Given the description of an element on the screen output the (x, y) to click on. 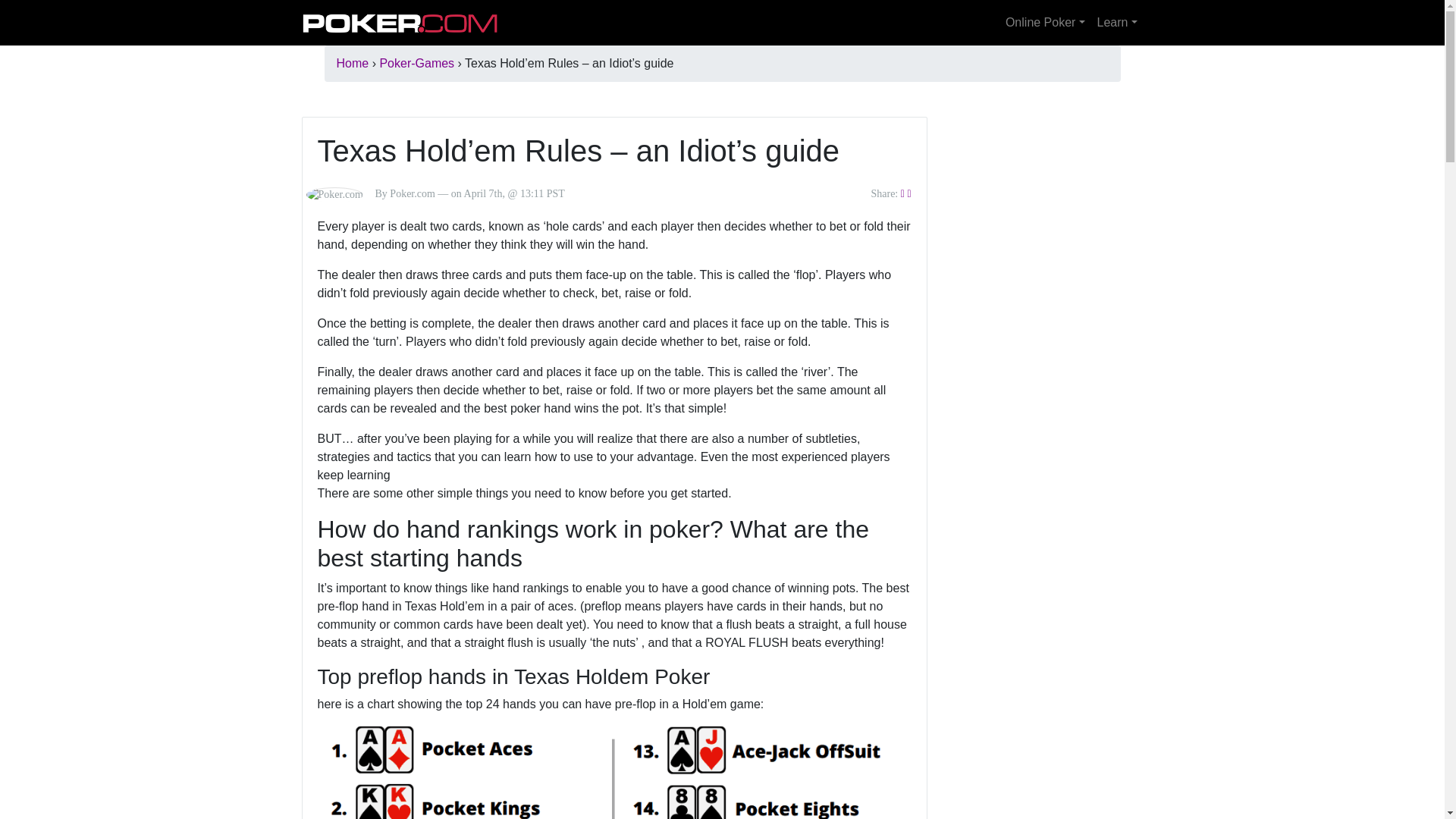
Learn (1116, 22)
Online Poker (1044, 22)
Home (352, 62)
Poker-Games (416, 62)
Learn (1116, 22)
Online Poker (1044, 22)
Poker (400, 22)
